Given the description of an element on the screen output the (x, y) to click on. 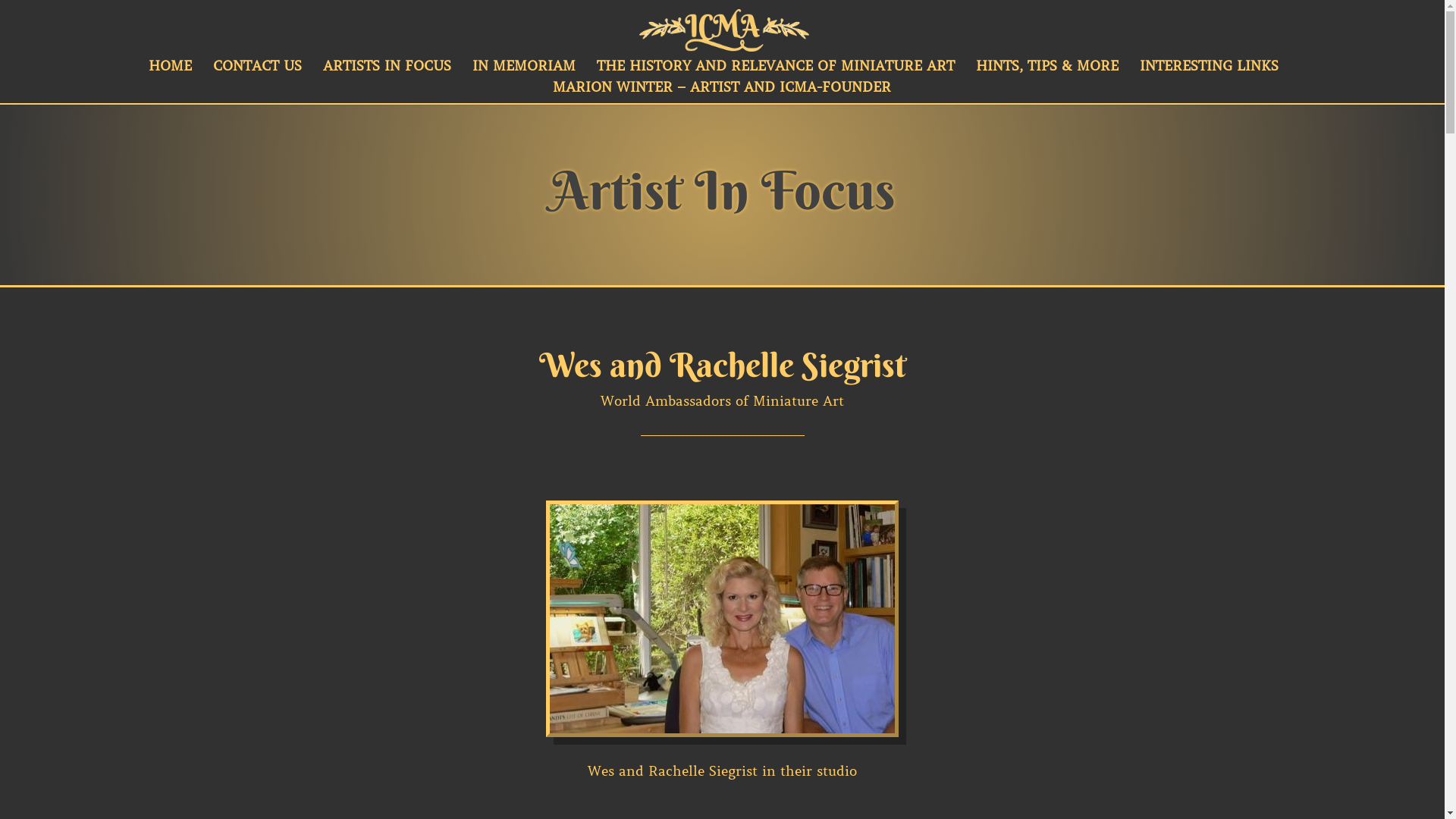
THE HISTORY AND RELEVANCE OF MINIATURE ART Element type: text (774, 70)
HOME Element type: text (169, 70)
CONTACT US Element type: text (256, 70)
ARTISTS IN FOCUS Element type: text (387, 70)
INTERESTING LINKS Element type: text (1208, 70)
IN MEMORIAM Element type: text (522, 70)
HINTS, TIPS & MORE Element type: text (1046, 70)
